Given the description of an element on the screen output the (x, y) to click on. 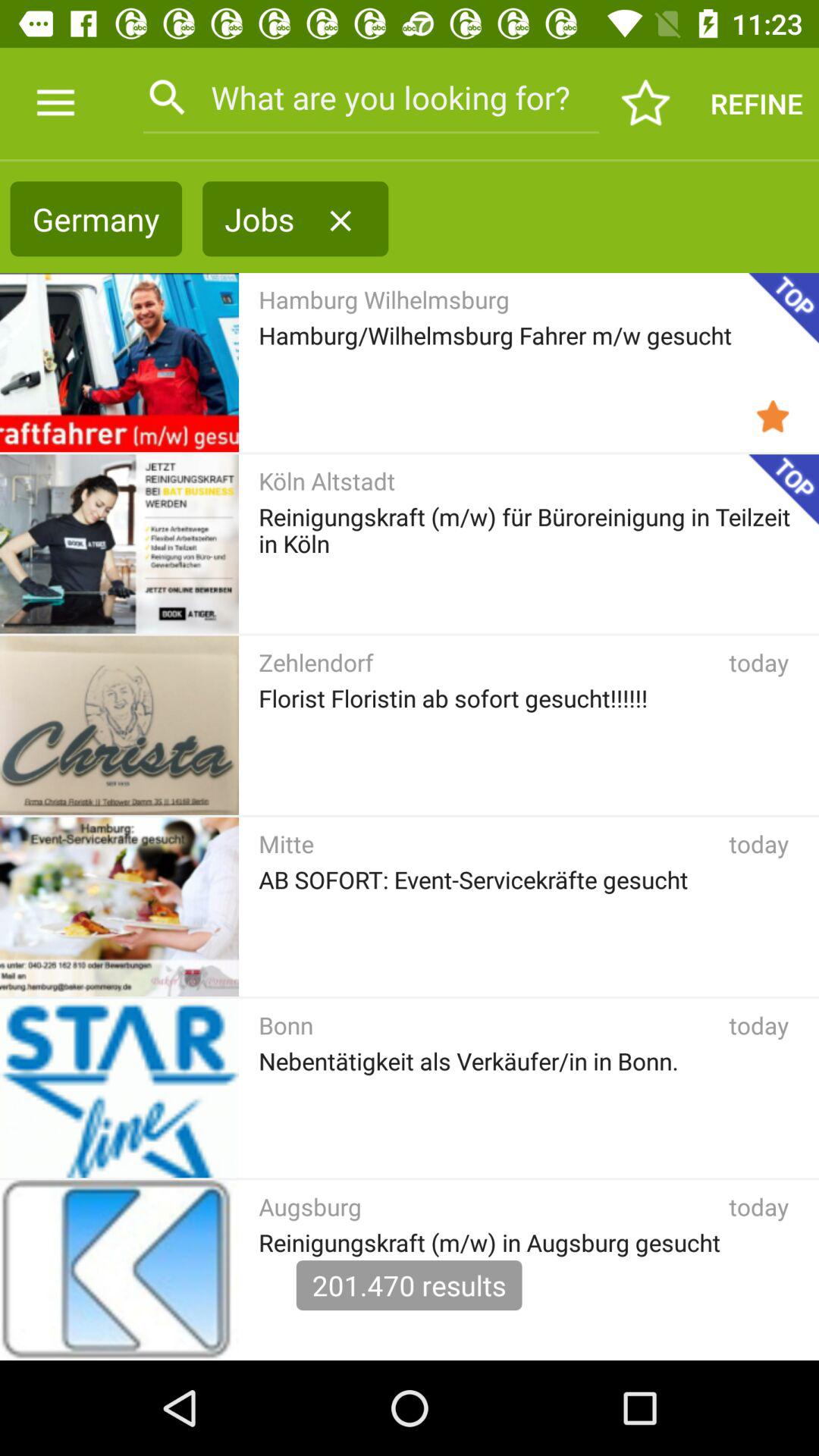
click the item to the right of what are you icon (646, 103)
